Given the description of an element on the screen output the (x, y) to click on. 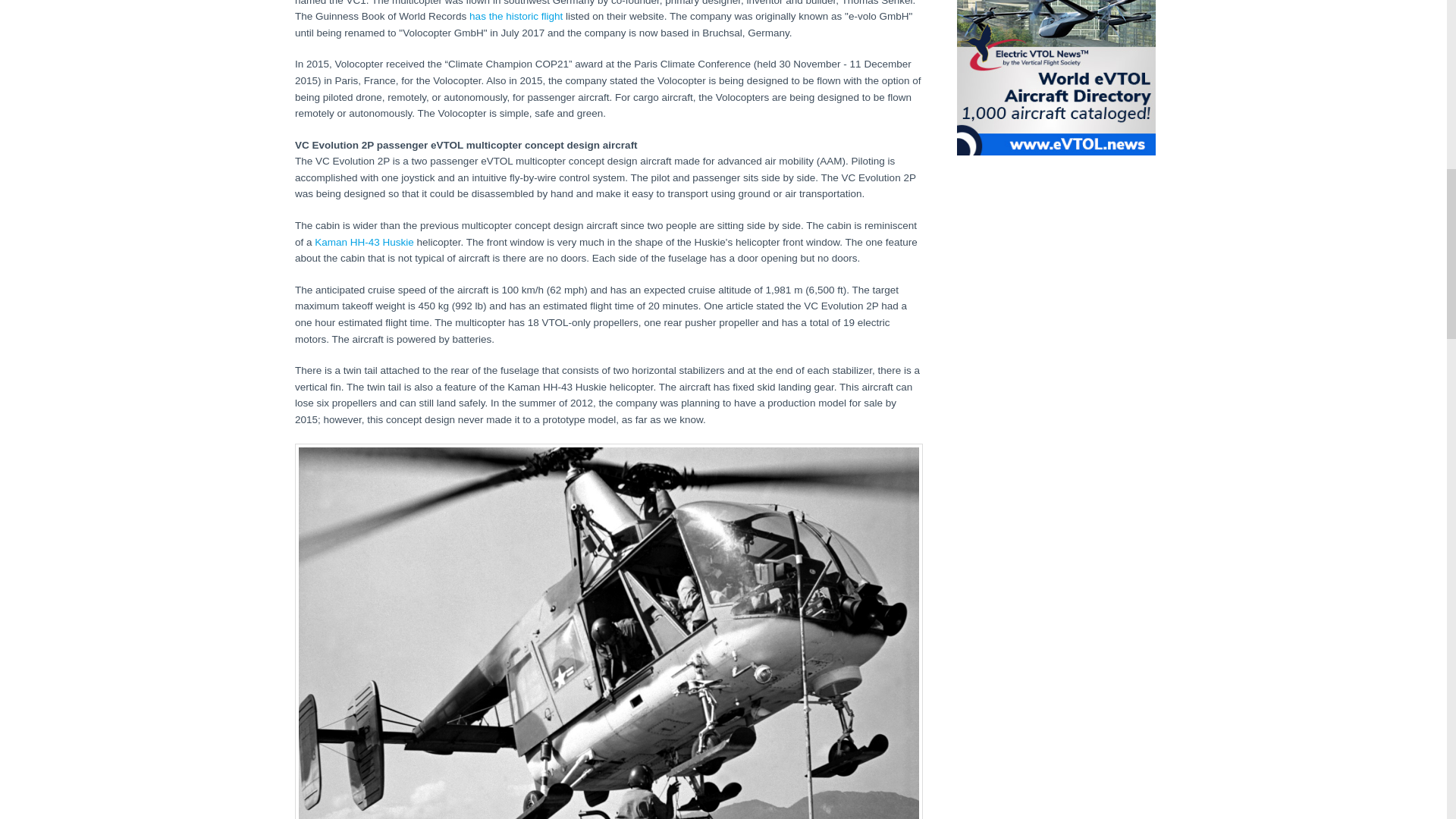
Kaman HH-43 Huskie (363, 242)
has the historic flight (515, 16)
